Given the description of an element on the screen output the (x, y) to click on. 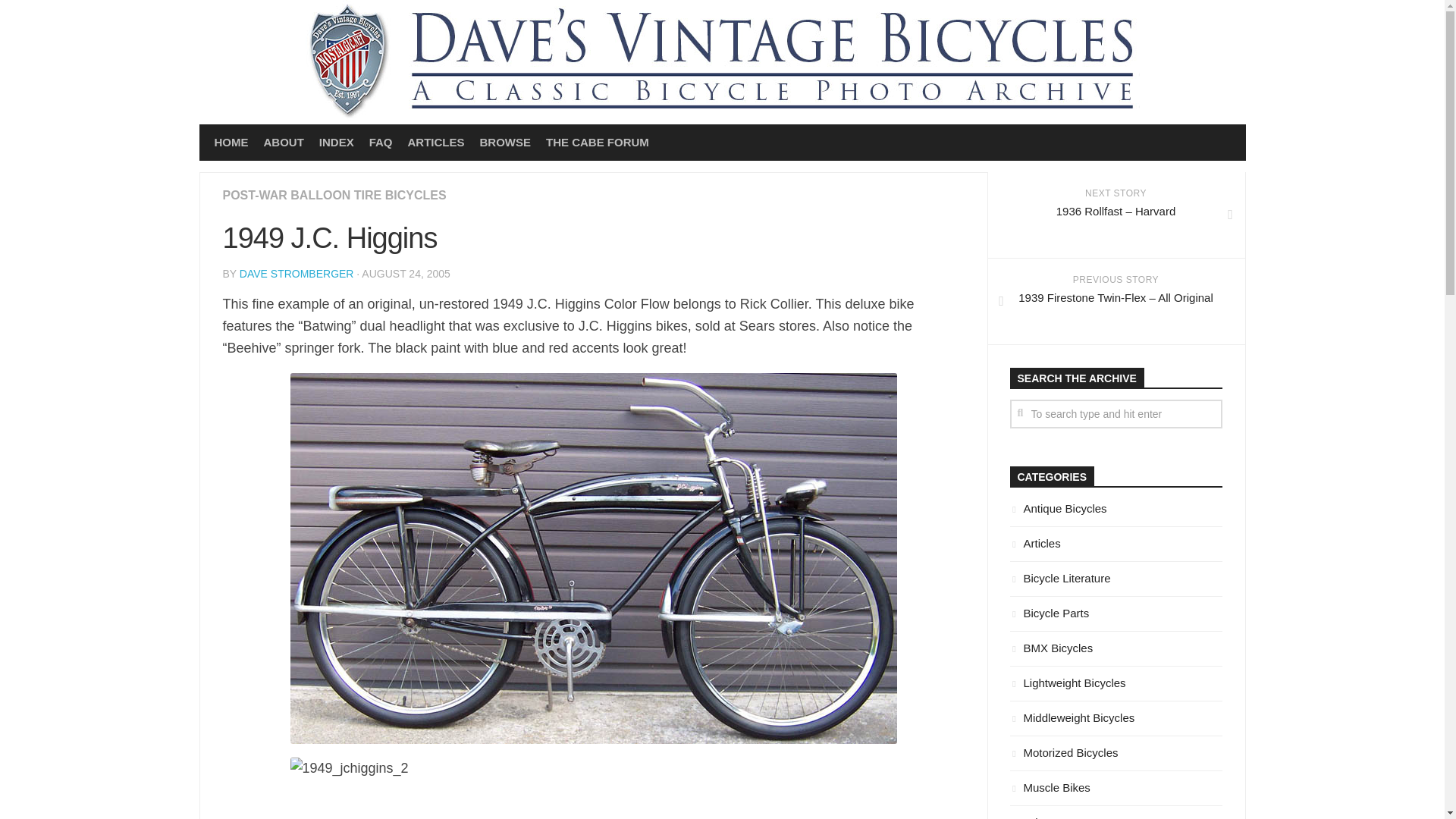
POST-WAR BALLOON TIRE BICYCLES (334, 195)
Posts by Dave Stromberger (296, 273)
BMX Bicycles (1051, 647)
ABOUT (283, 142)
To search type and hit enter (1116, 413)
Bicycle Literature (1060, 577)
Articles (1035, 543)
Motorized Bicycles (1064, 752)
Muscle Bikes (1050, 787)
Lightweight Bicycles (1067, 682)
